Given the description of an element on the screen output the (x, y) to click on. 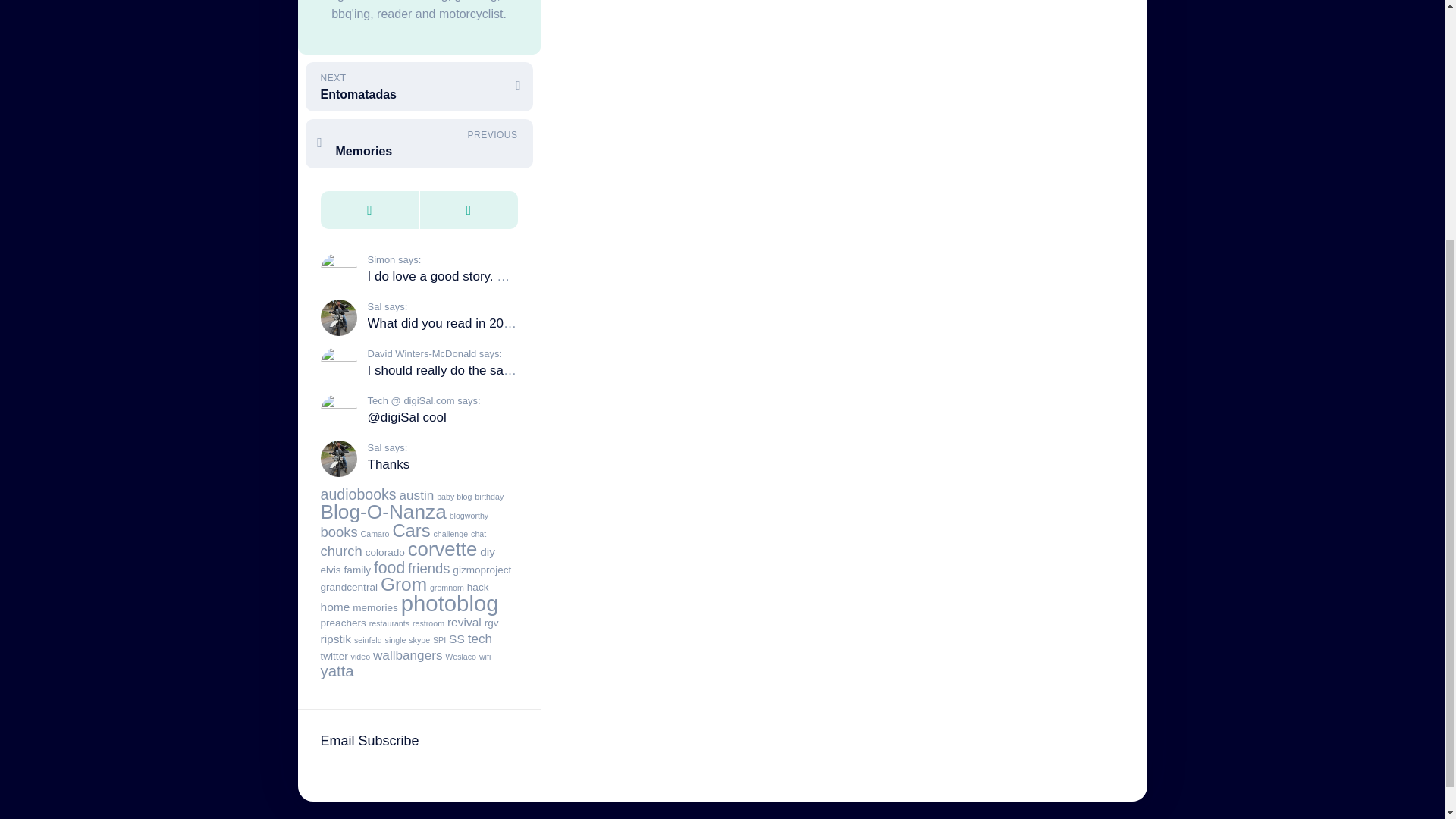
elvis (330, 569)
grandcentral (348, 586)
gromnom (446, 587)
challenge (450, 533)
audiobooks (358, 494)
I do love a good story. Even in song form. I... (493, 276)
Tags (467, 210)
chat (478, 533)
food (389, 567)
church (340, 550)
